Given the description of an element on the screen output the (x, y) to click on. 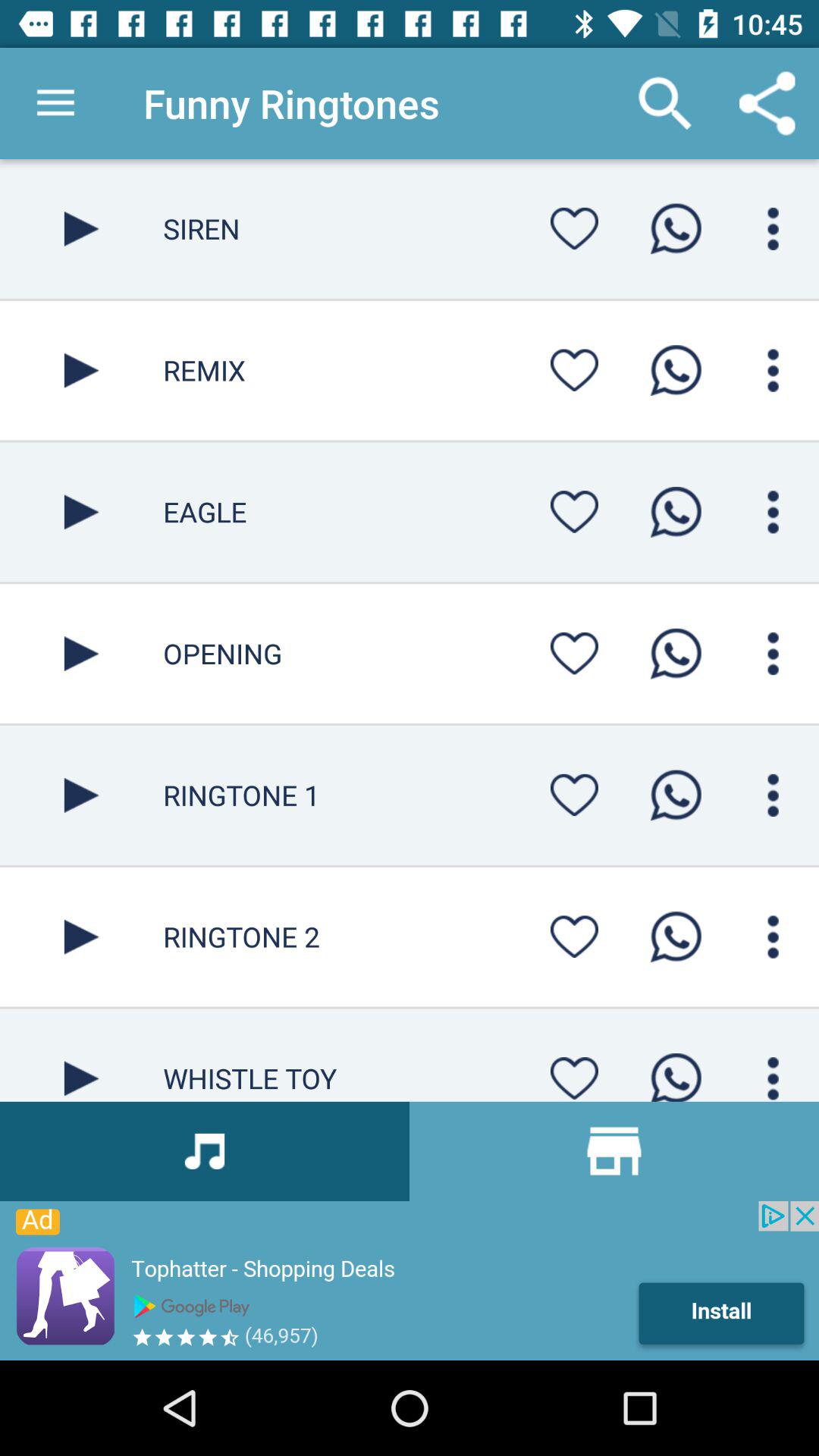
options button (773, 794)
